Given the description of an element on the screen output the (x, y) to click on. 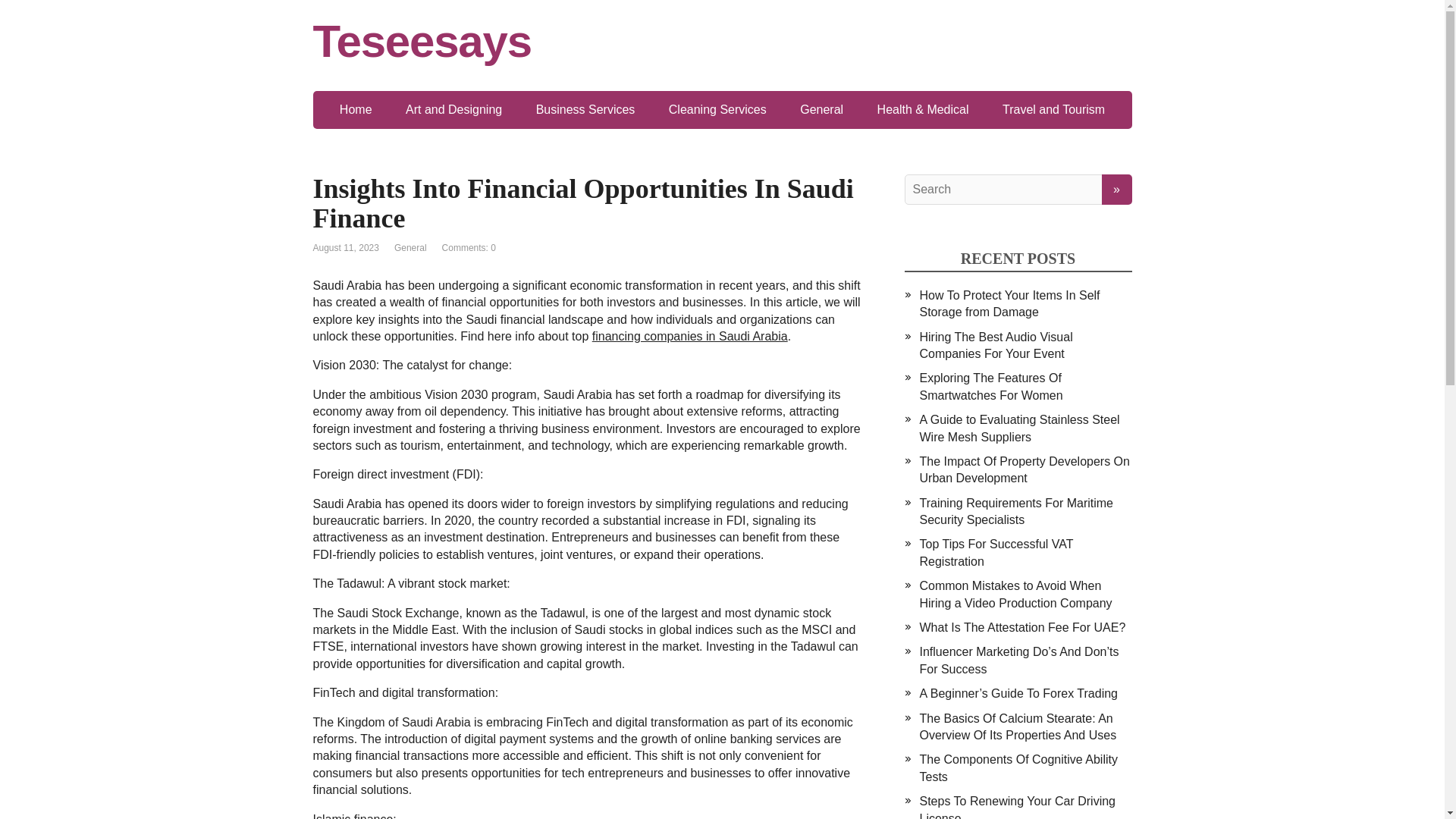
Top Tips For Successful VAT Registration (995, 552)
Exploring The Features Of Smartwatches For Women (990, 386)
Training Requirements For Maritime Security Specialists (1015, 511)
What Is The Attestation Fee For UAE? (1021, 626)
Home (355, 109)
General (821, 109)
Teseesays (722, 41)
Travel and Tourism (1053, 109)
Cleaning Services (717, 109)
Art and Designing (453, 109)
The Impact Of Property Developers On Urban Development (1023, 469)
The Components Of Cognitive Ability Tests (1017, 767)
Steps To Renewing Your Car Driving License (1016, 806)
Business Services (585, 109)
